Given the description of an element on the screen output the (x, y) to click on. 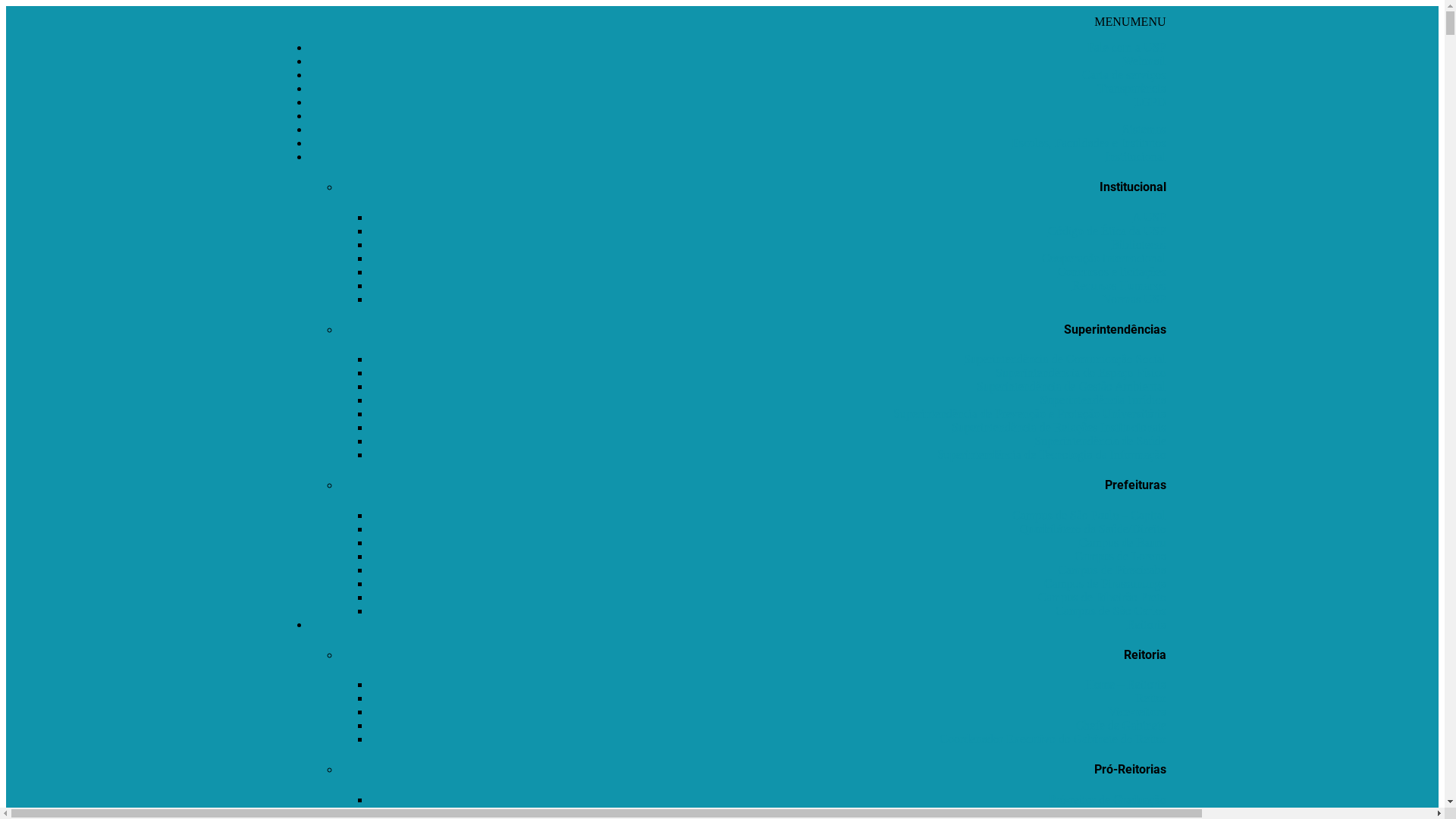
Bibliotecas Element type: text (1138, 244)
Campus de Piracicaba Element type: text (1111, 569)
A USP Element type: text (1148, 216)
Institucional Element type: text (1135, 156)
Recursos Humanos Element type: text (1119, 285)
Reitor Element type: text (1150, 697)
Webmail Element type: text (1143, 60)
Vice-reitora Element type: text (1136, 711)
Campus de Pirassununga Element type: text (1105, 583)
Chefe de Gabinete Element type: text (1120, 724)
Sistemas Element type: text (1144, 128)
Coordenador Executivo do Gabinete do Reitor Element type: text (1052, 738)
Campus de Lorena Element type: text (1120, 555)
Escolas, Faculdades e Institutos Element type: text (1088, 142)
Fale com a USP Element type: text (1126, 46)
Normas USP Element type: text (1133, 298)
Campus de Bauru Element type: text (1122, 542)
Skip to content Element type: text (5, 5)
Reitoria Element type: text (1146, 624)
LGPD Element type: text (1150, 101)
